Given the description of an element on the screen output the (x, y) to click on. 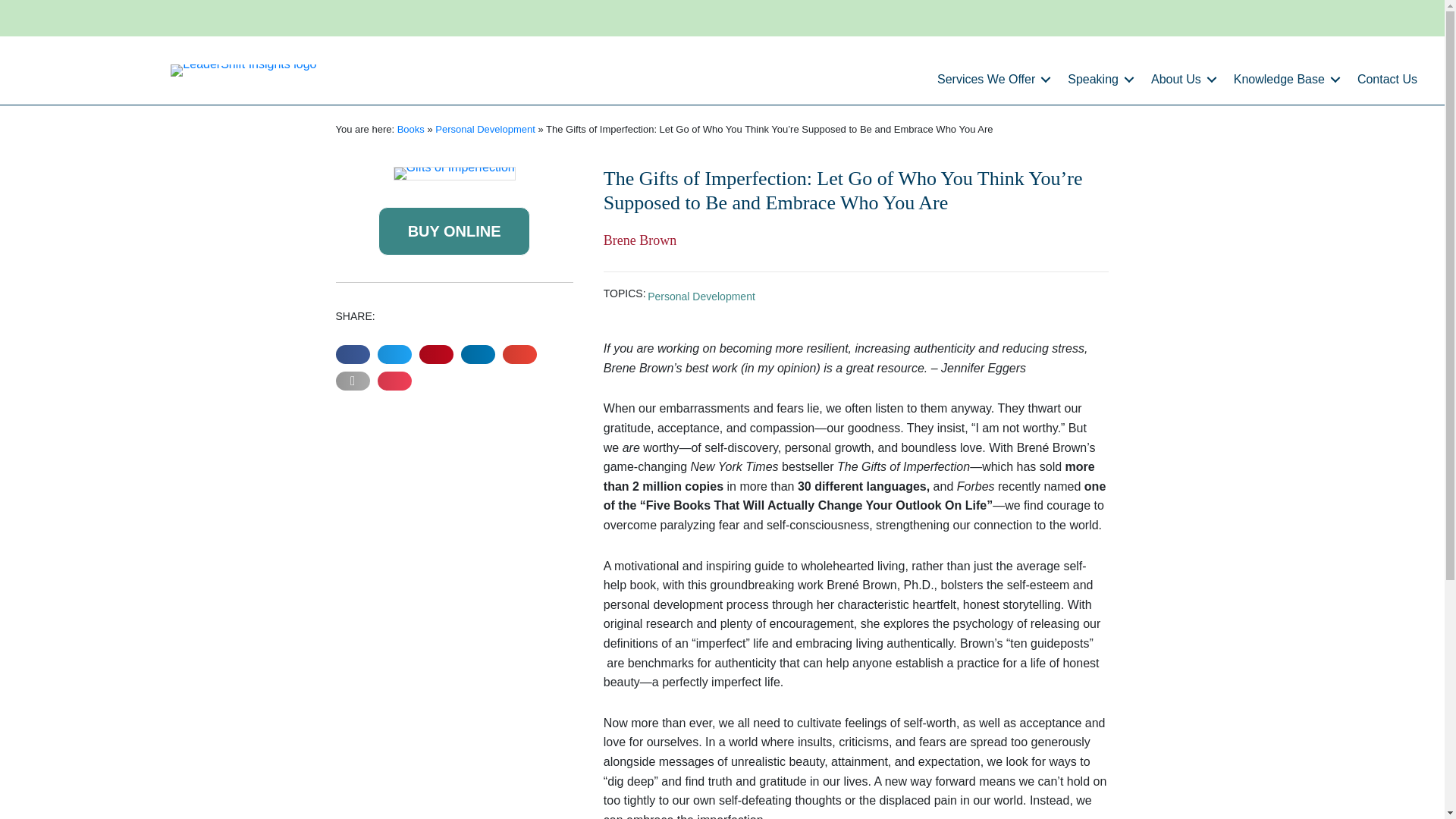
Services We Offer (991, 79)
About Us (1181, 79)
Gifts of Imperfection (454, 173)
Knowledge Base (1284, 79)
Speaking (1098, 79)
